Given the description of an element on the screen output the (x, y) to click on. 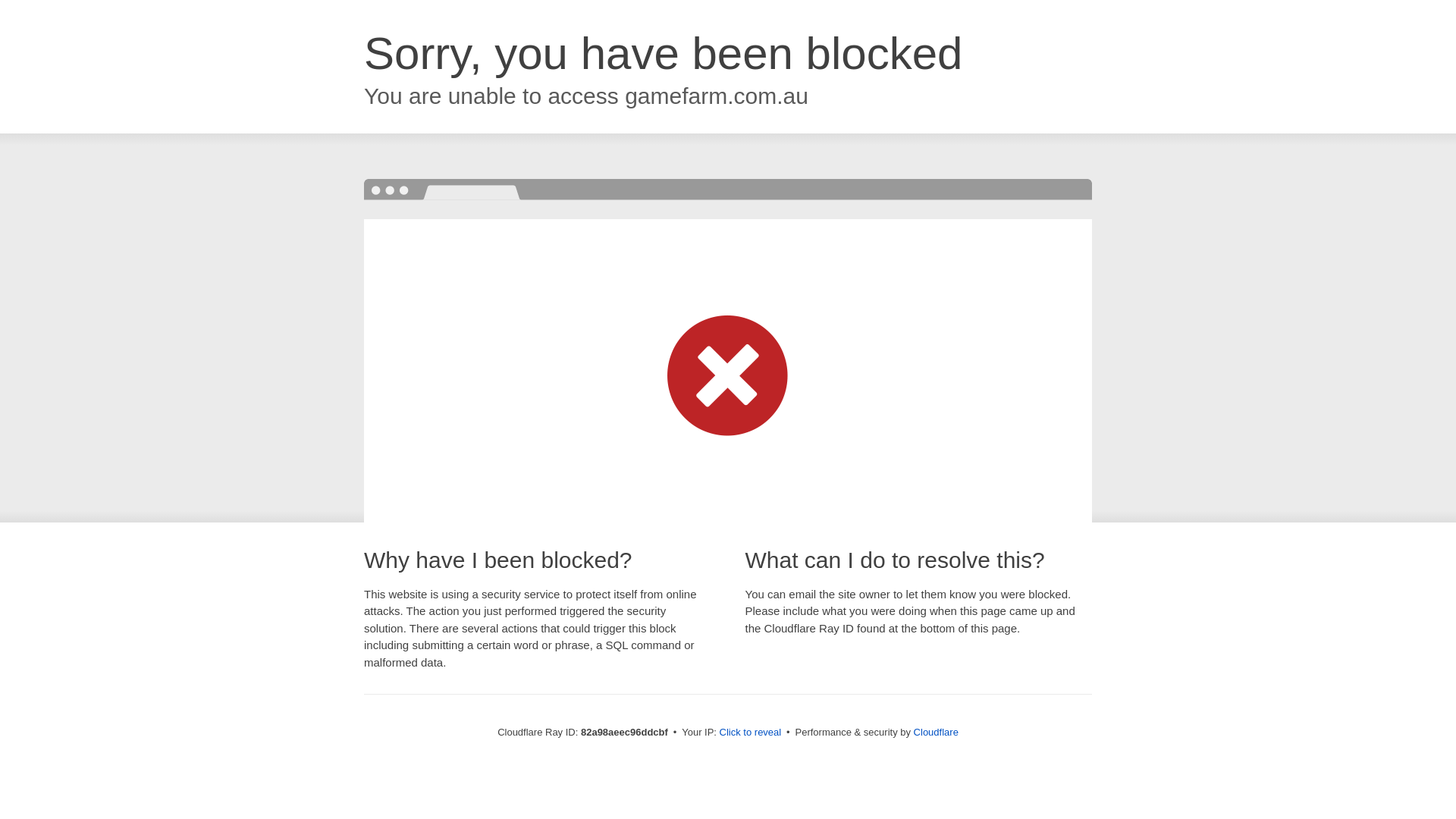
Click to reveal Element type: text (750, 732)
Cloudflare Element type: text (935, 731)
